Given the description of an element on the screen output the (x, y) to click on. 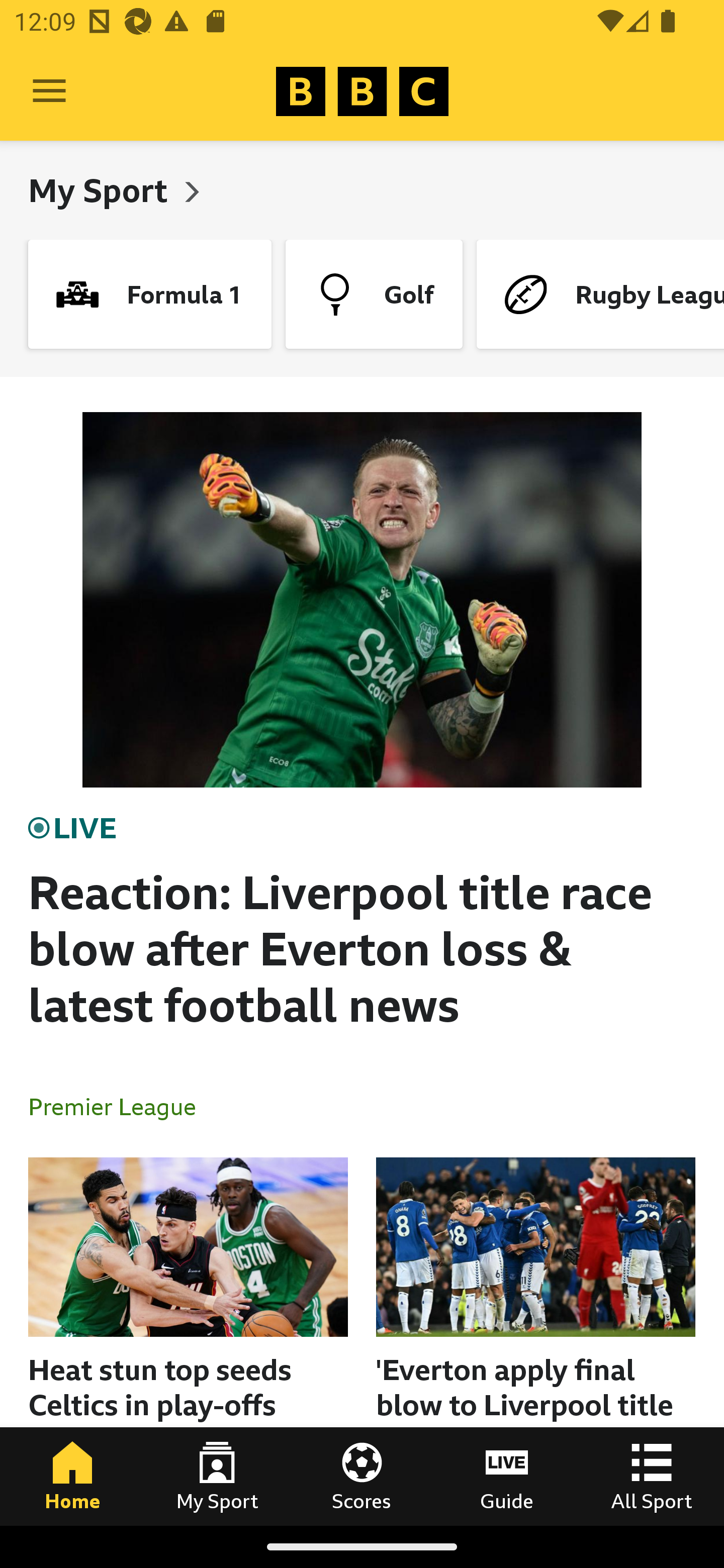
Open Menu (49, 91)
My Sport (101, 190)
Premier League In the section Premier League (119, 1106)
My Sport (216, 1475)
Scores (361, 1475)
Guide (506, 1475)
All Sport (651, 1475)
